Given the description of an element on the screen output the (x, y) to click on. 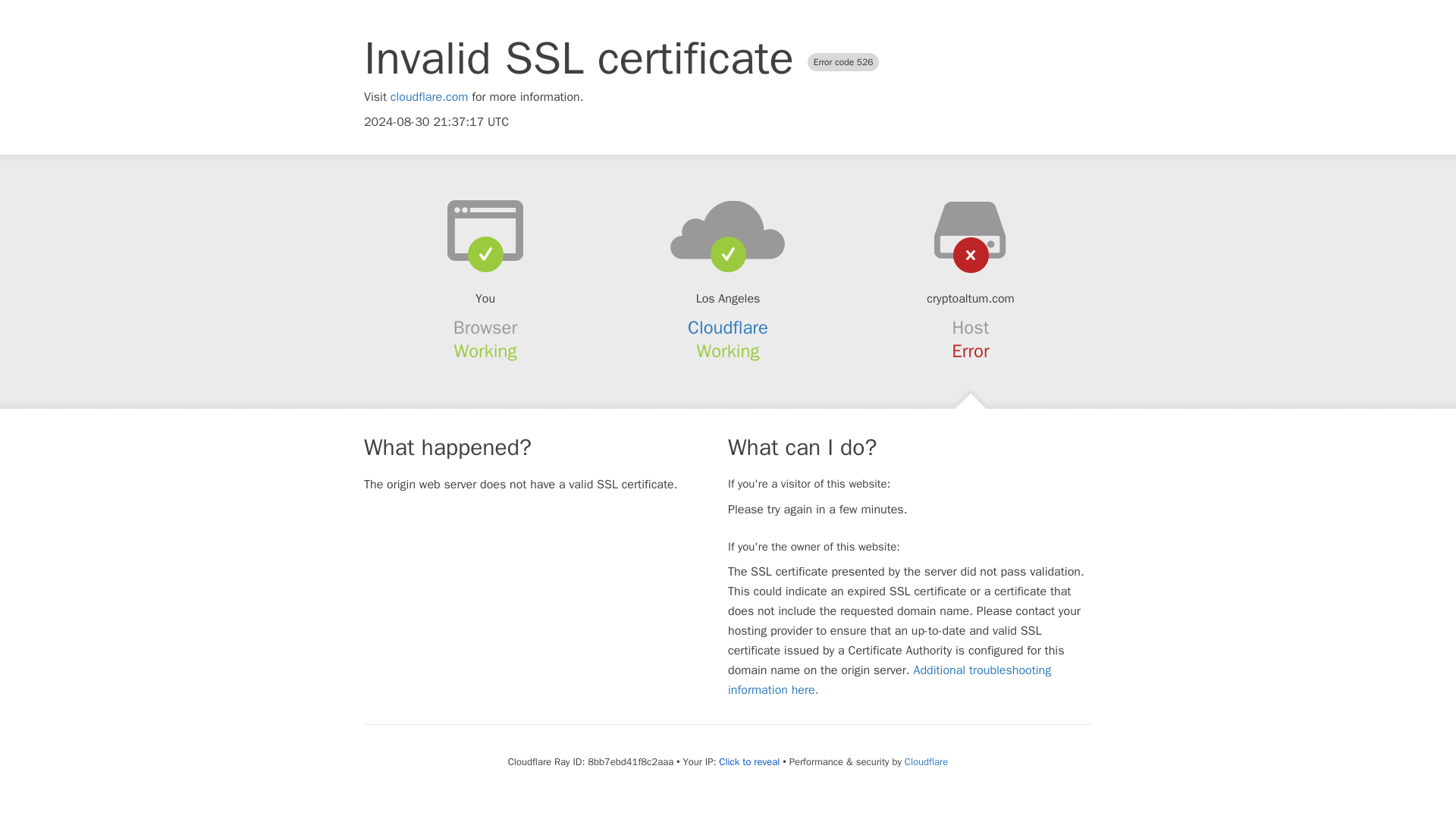
Additional troubleshooting information here. (889, 679)
Cloudflare (925, 761)
Cloudflare (727, 327)
Click to reveal (748, 762)
cloudflare.com (429, 96)
